Given the description of an element on the screen output the (x, y) to click on. 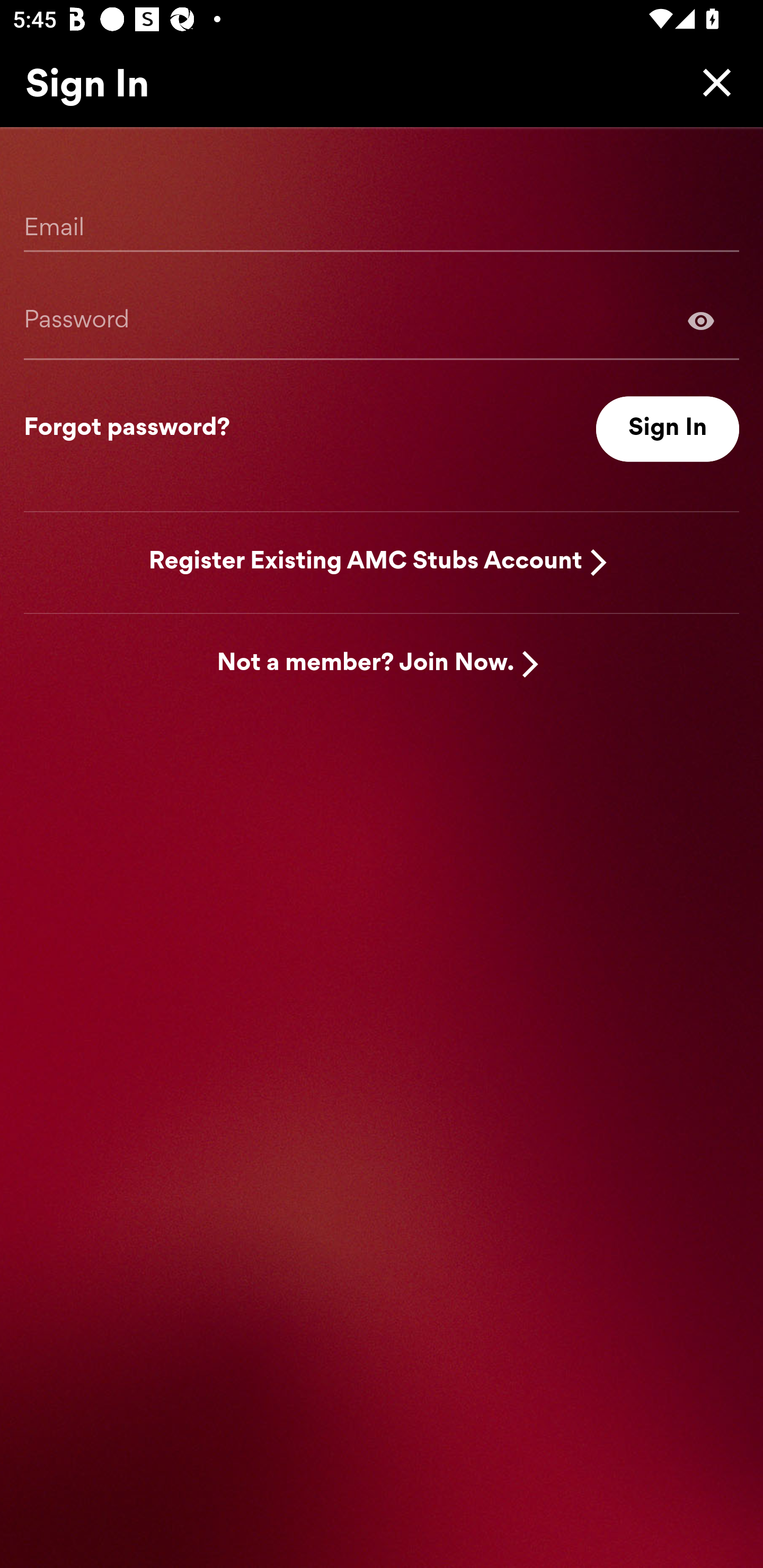
Close (712, 82)
Show Password (381, 320)
Show Password (701, 320)
Forgot password? (126, 428)
Sign In (667, 428)
Register Existing AMC Stubs Account (365, 561)
Not a member? Join Now. (365, 663)
